Given the description of an element on the screen output the (x, y) to click on. 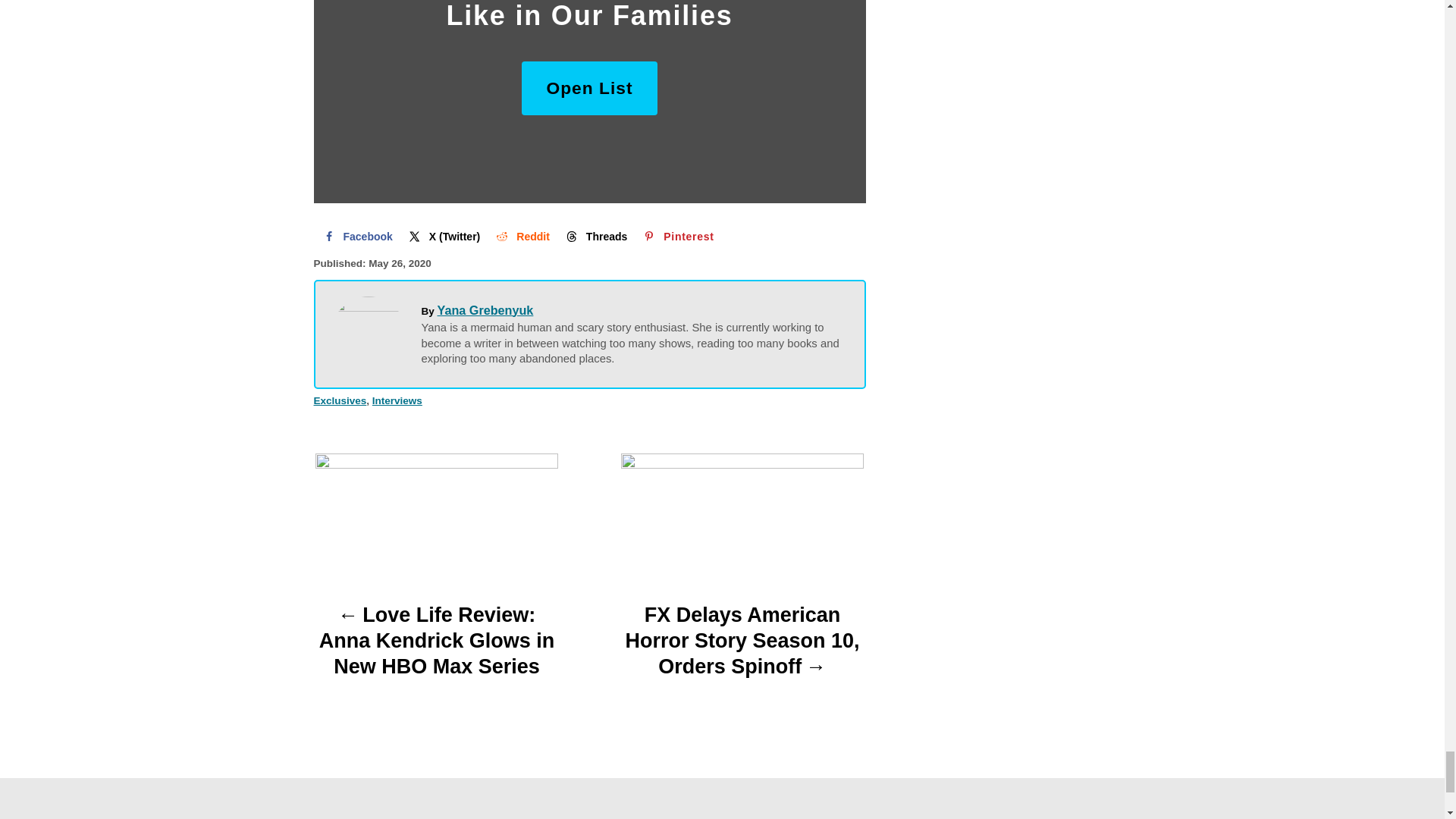
Share on Threads (594, 236)
Save to Pinterest (676, 236)
Share on Reddit (521, 236)
Share on X (442, 236)
Share on Facebook (356, 236)
